Given the description of an element on the screen output the (x, y) to click on. 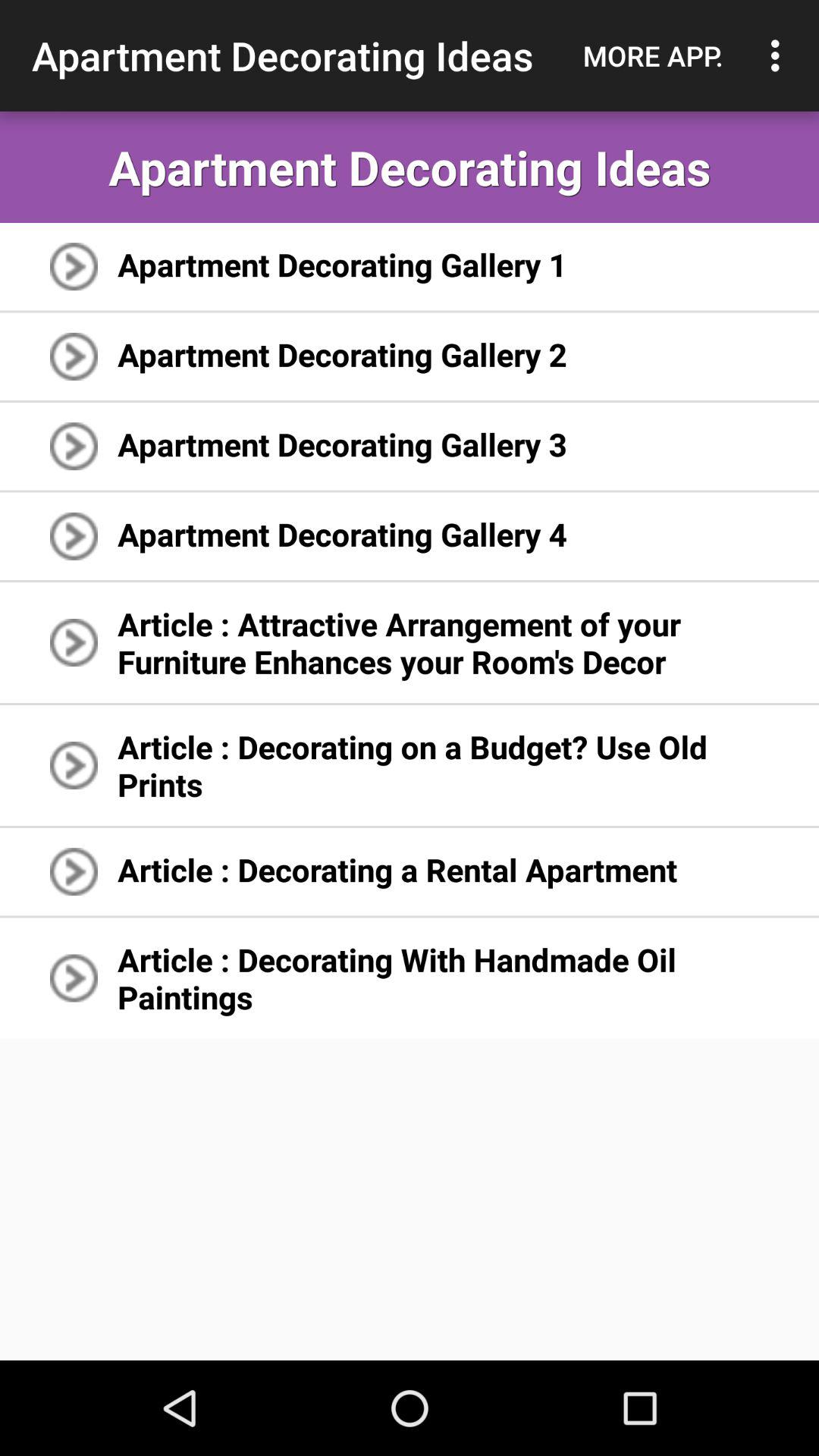
turn on more app. item (653, 55)
